Given the description of an element on the screen output the (x, y) to click on. 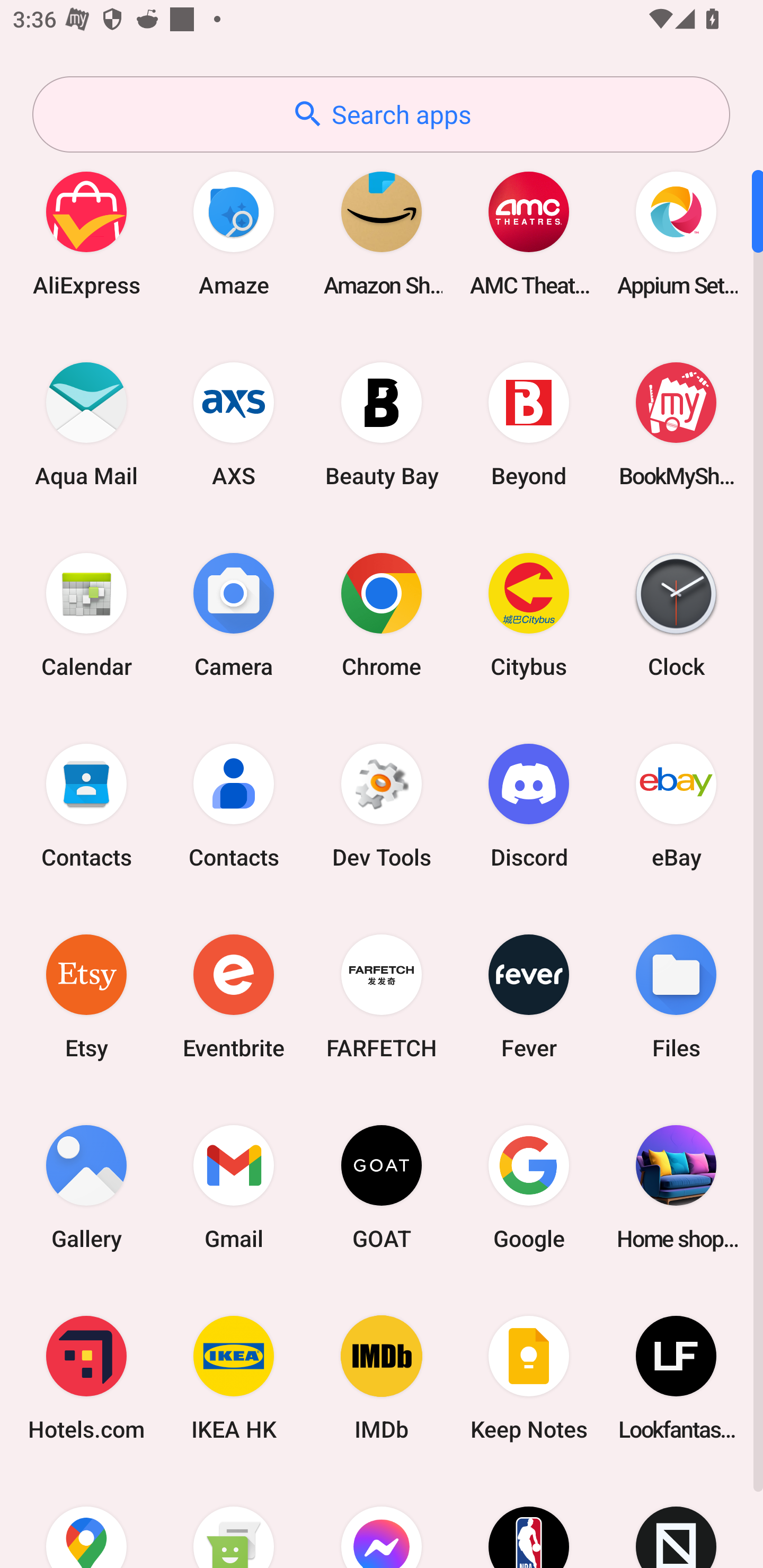
  Search apps (381, 114)
AliExpress (86, 233)
Amaze (233, 233)
Amazon Shopping (381, 233)
AMC Theatres (528, 233)
Appium Settings (676, 233)
Aqua Mail (86, 424)
AXS (233, 424)
Beauty Bay (381, 424)
Beyond (528, 424)
BookMyShow (676, 424)
Calendar (86, 614)
Camera (233, 614)
Chrome (381, 614)
Citybus (528, 614)
Clock (676, 614)
Contacts (86, 805)
Contacts (233, 805)
Dev Tools (381, 805)
Discord (528, 805)
eBay (676, 805)
Etsy (86, 996)
Eventbrite (233, 996)
FARFETCH (381, 996)
Fever (528, 996)
Files (676, 996)
Gallery (86, 1186)
Gmail (233, 1186)
GOAT (381, 1186)
Google (528, 1186)
Home shopping (676, 1186)
Hotels.com (86, 1377)
IKEA HK (233, 1377)
IMDb (381, 1377)
Keep Notes (528, 1377)
Lookfantastic (676, 1377)
Maps (86, 1520)
Messaging (233, 1520)
Messenger (381, 1520)
NBA (528, 1520)
Novelship (676, 1520)
